Given the description of an element on the screen output the (x, y) to click on. 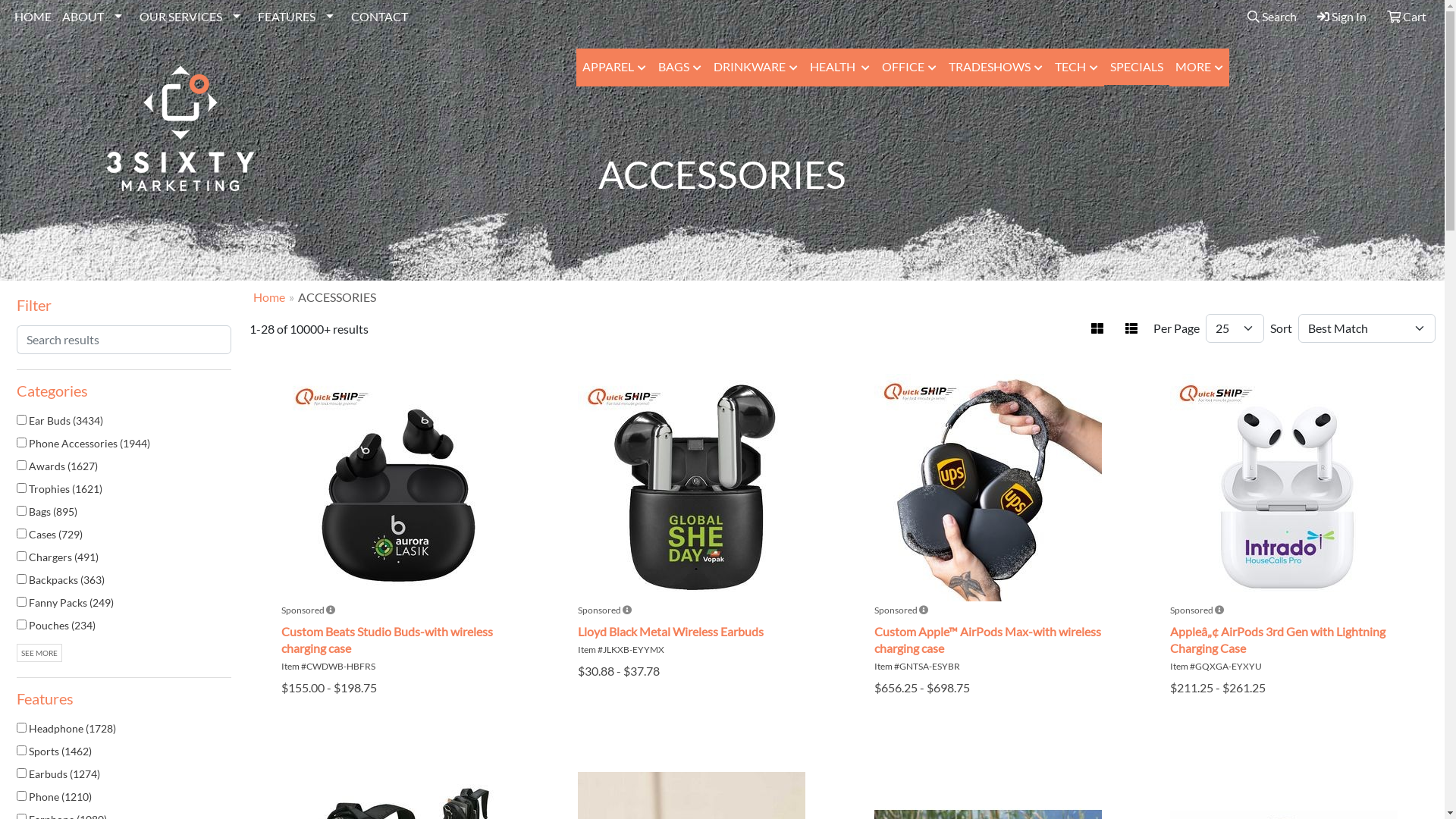
ABOUT Element type: text (95, 16)
TECH Element type: text (1076, 67)
Cart Element type: text (1406, 16)
FEATURES Element type: text (298, 16)
HOME Element type: text (32, 16)
HEALTH Element type: text (839, 67)
APPAREL Element type: text (614, 67)
MORE Element type: text (1199, 67)
DRINKWARE Element type: text (755, 67)
SPECIALS Element type: text (1136, 66)
OUR SERVICES Element type: text (193, 16)
BAGS Element type: text (679, 67)
Sign In Element type: text (1341, 16)
OFFICE Element type: text (908, 67)
TRADESHOWS Element type: text (995, 67)
Search Element type: text (1272, 16)
CONTACT Element type: text (379, 16)
